Given the description of an element on the screen output the (x, y) to click on. 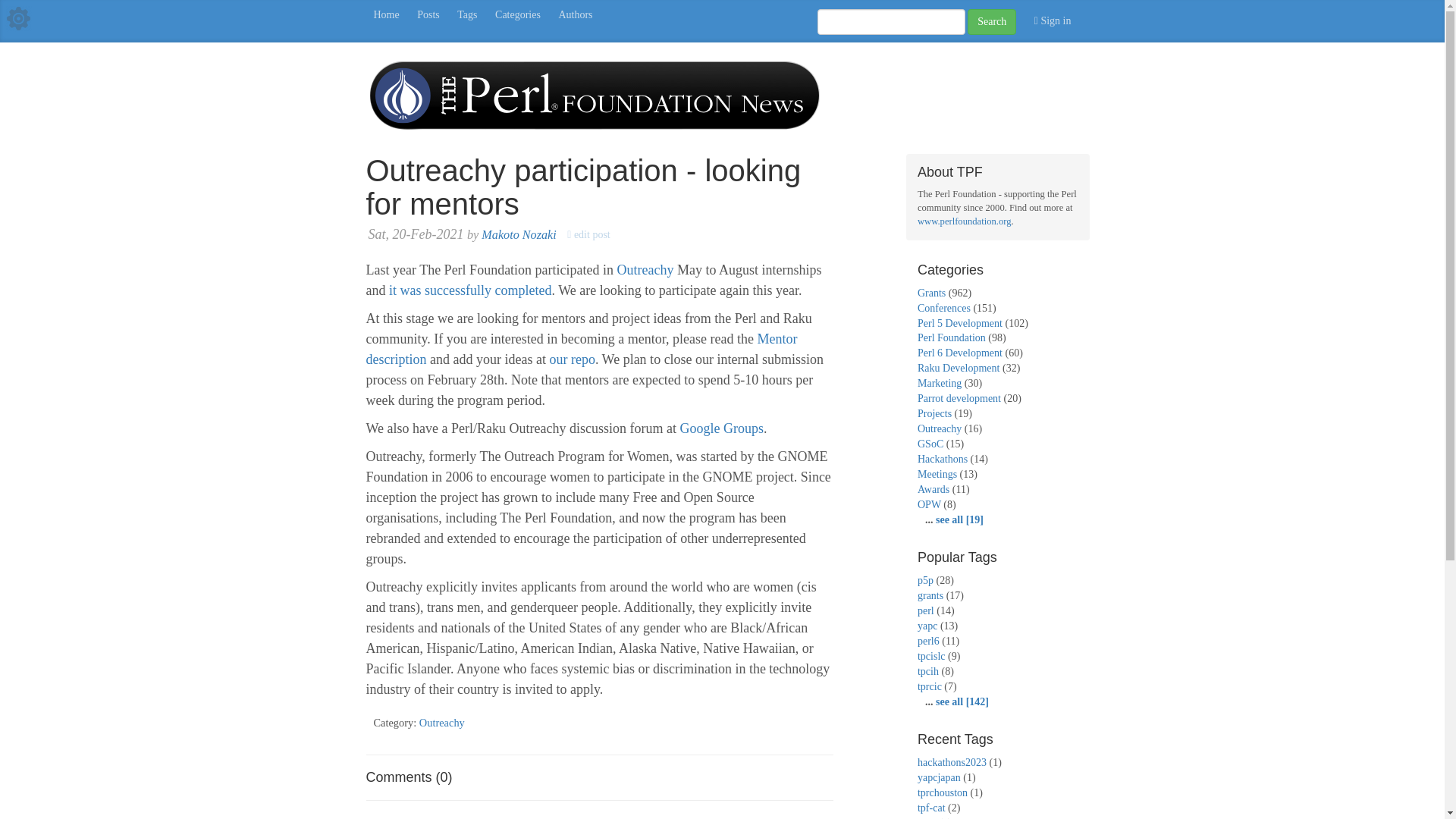
perl (925, 610)
OPW (928, 504)
it was successfully completed (469, 290)
Hackathons (942, 459)
Mentor description (580, 348)
Categories (517, 15)
Parrot development (959, 398)
perl6 (928, 641)
grants (930, 595)
our repo (571, 359)
Outreachy (645, 269)
Awards (933, 489)
Perl 5 Development (960, 322)
Conferences (944, 307)
yapc (927, 625)
